Given the description of an element on the screen output the (x, y) to click on. 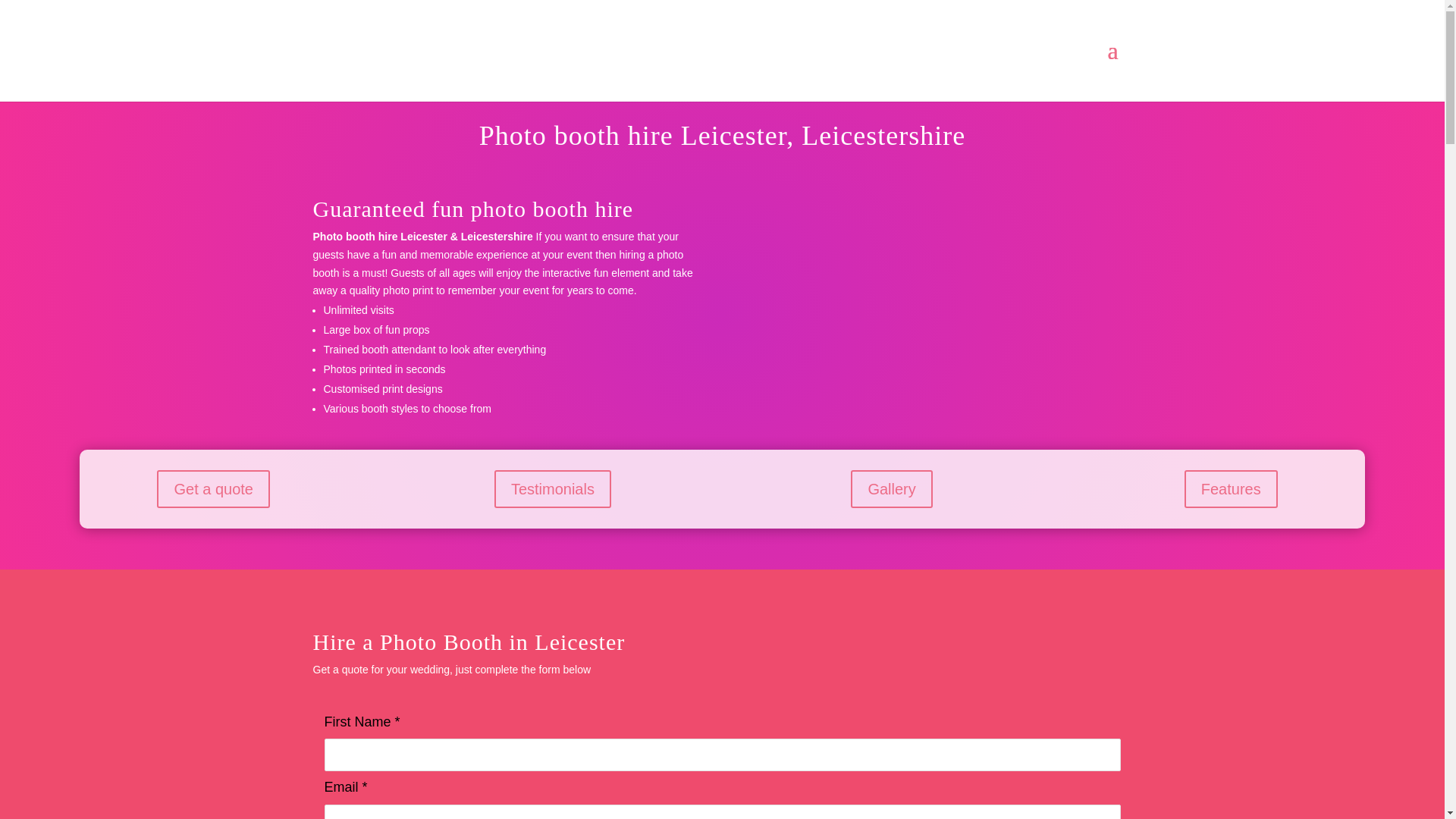
Features (1231, 488)
Gallery (890, 488)
Testimonials (553, 488)
Get a quote (213, 488)
